Given the description of an element on the screen output the (x, y) to click on. 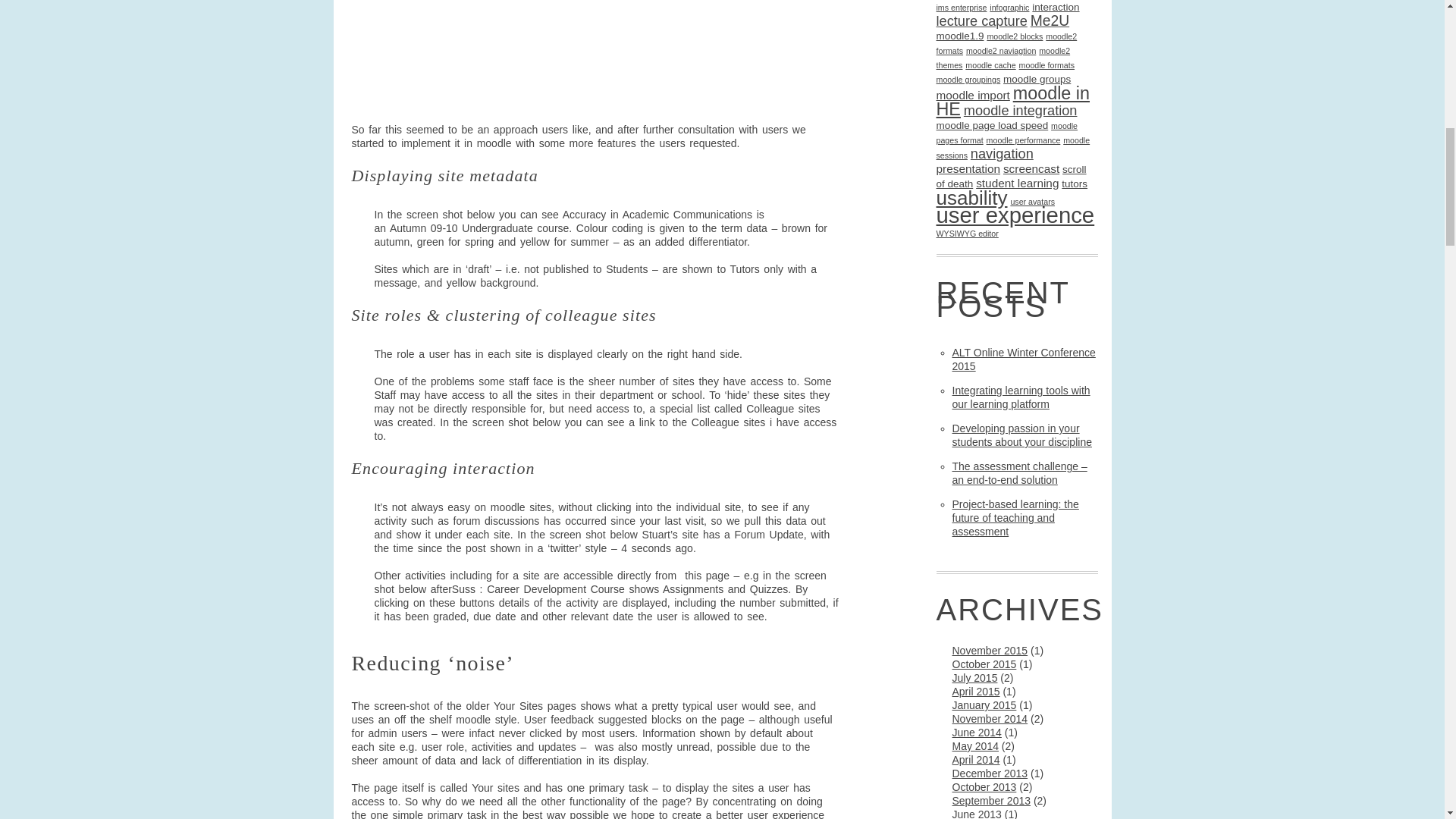
New Study Direct home page (541, 53)
